Given the description of an element on the screen output the (x, y) to click on. 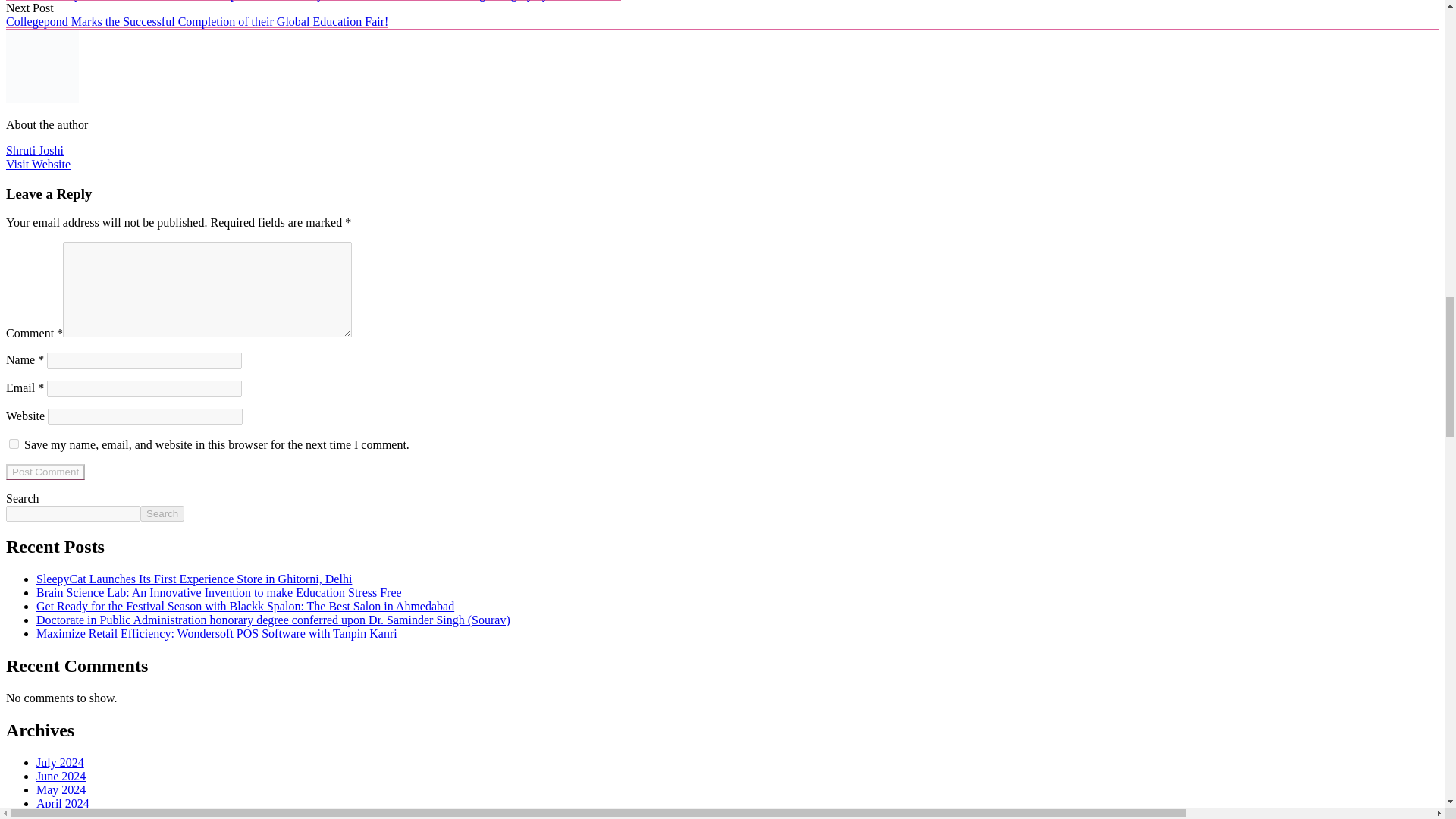
Post Comment (44, 471)
July 2024 (60, 762)
Post Comment (44, 471)
Search (161, 513)
June 2024 (60, 775)
Visit Website (37, 164)
May 2024 (60, 789)
yes (13, 443)
Shruti Joshi (34, 150)
